Given the description of an element on the screen output the (x, y) to click on. 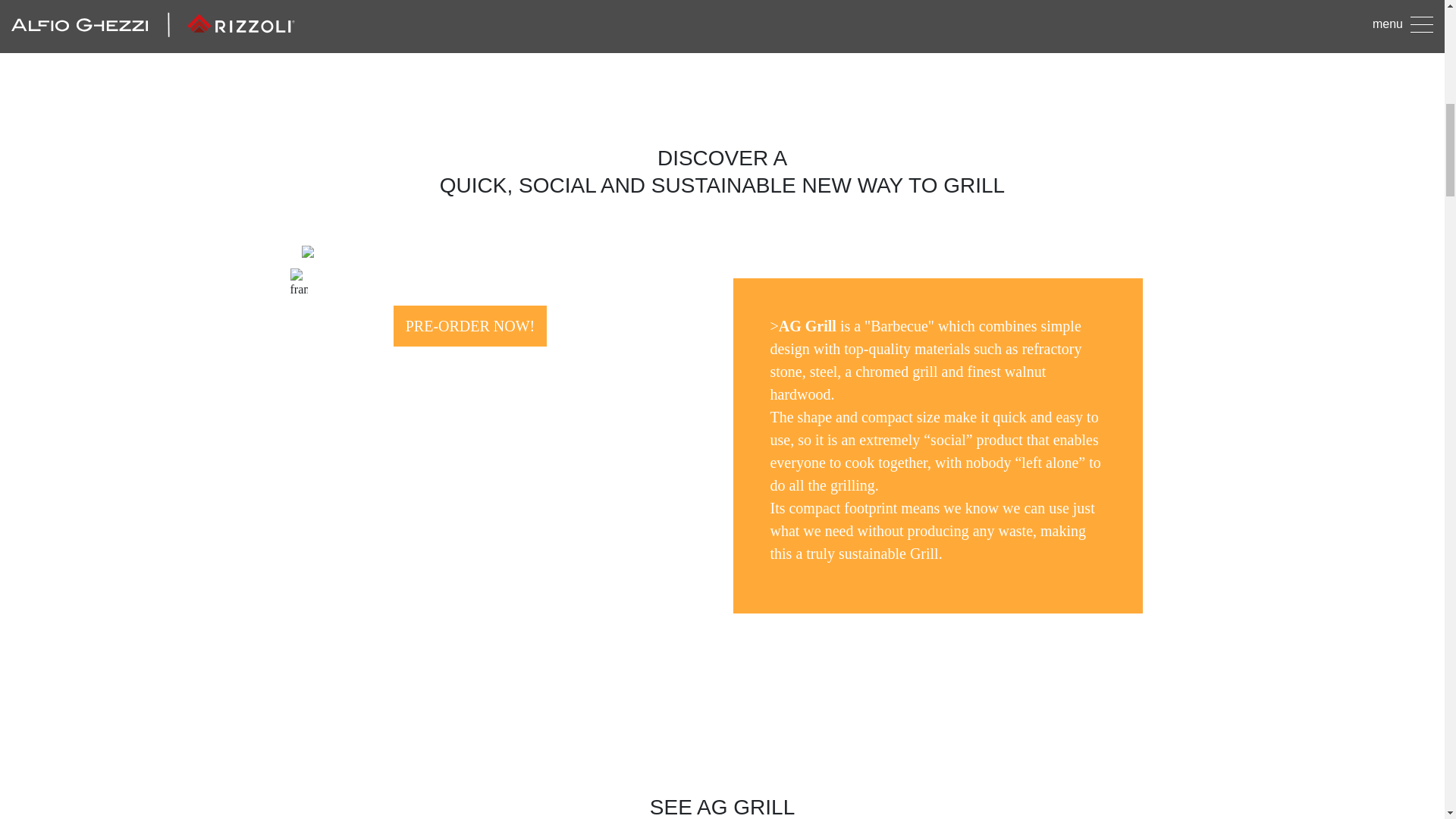
PRE-ORDER NOW! (470, 324)
